Given the description of an element on the screen output the (x, y) to click on. 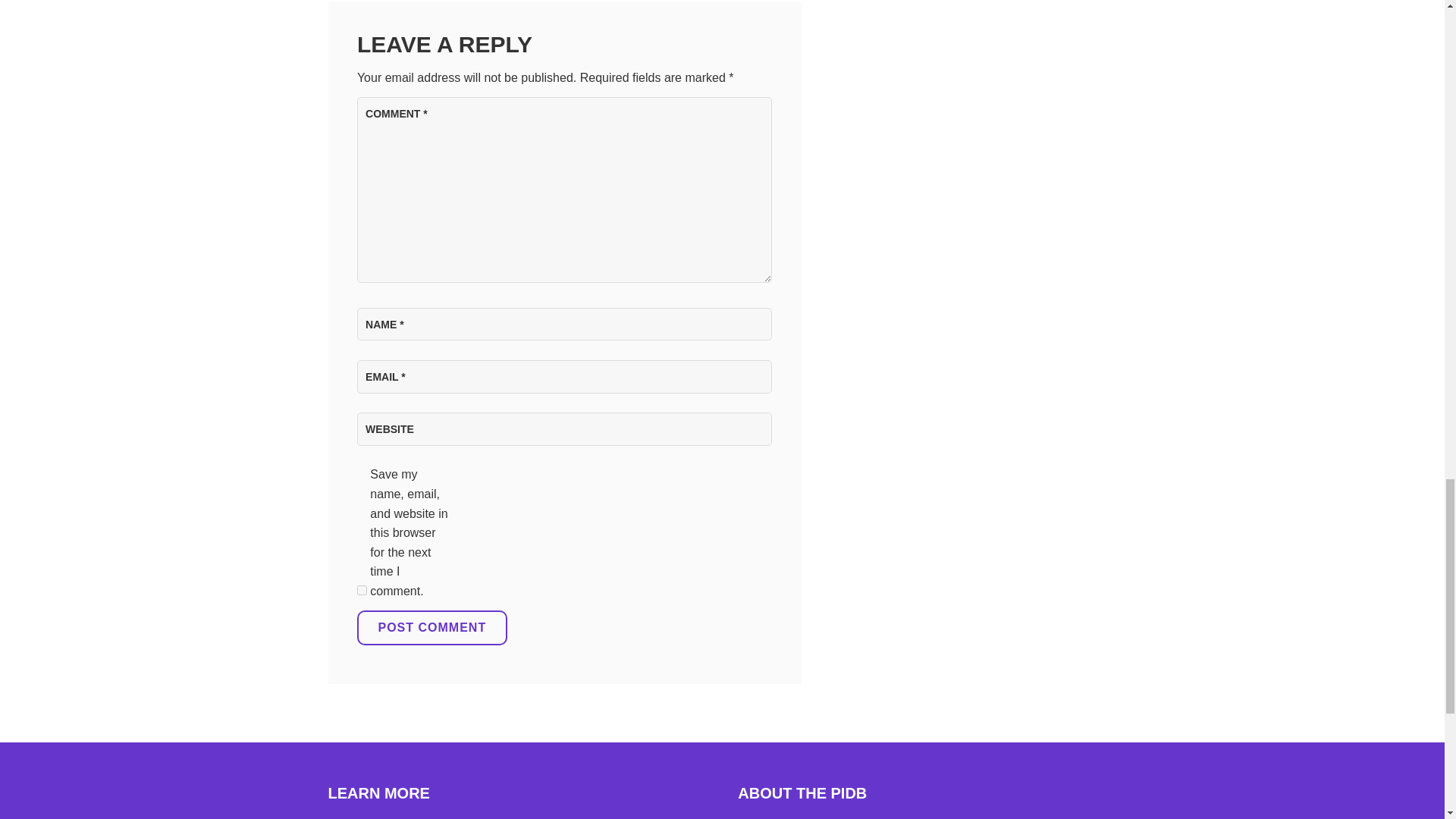
yes (361, 590)
Post Comment (431, 627)
Post Comment (431, 627)
